Given the description of an element on the screen output the (x, y) to click on. 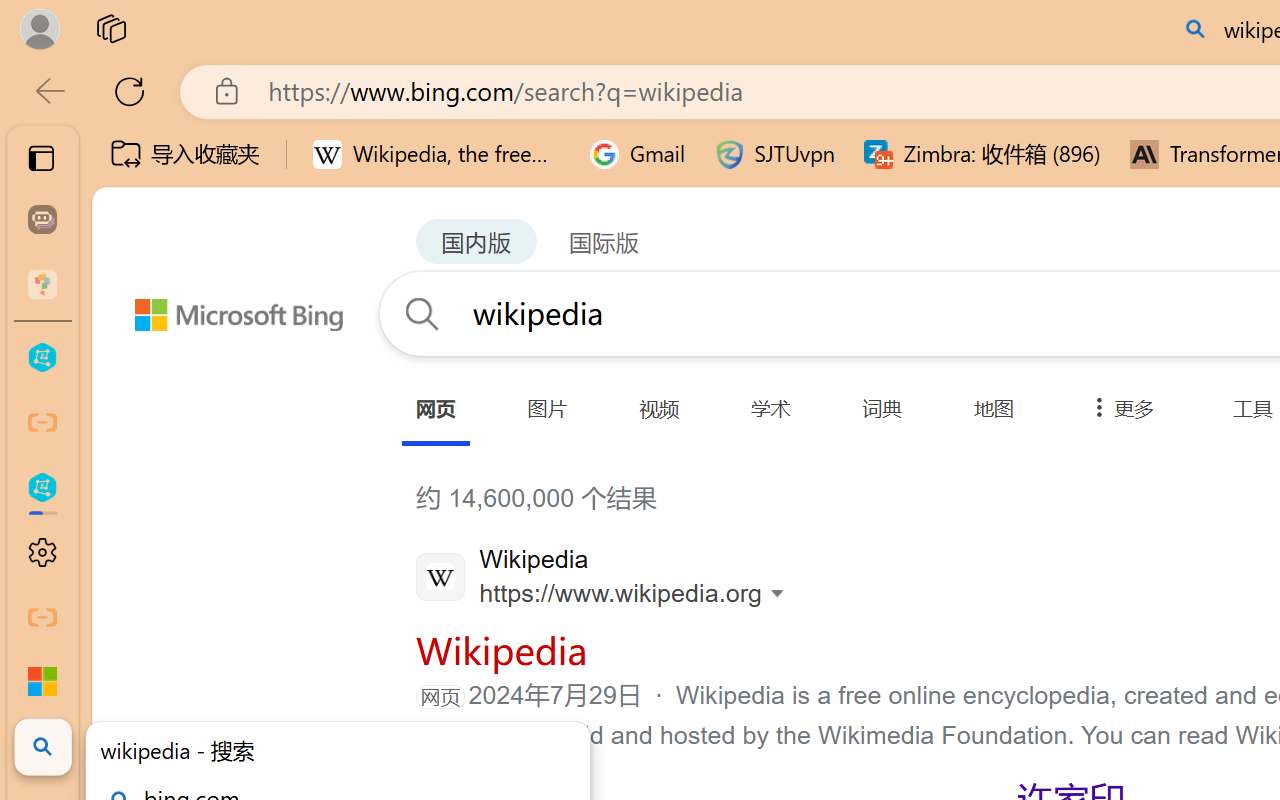
Gmail (637, 154)
Dropdown Menu (1118, 408)
